Given the description of an element on the screen output the (x, y) to click on. 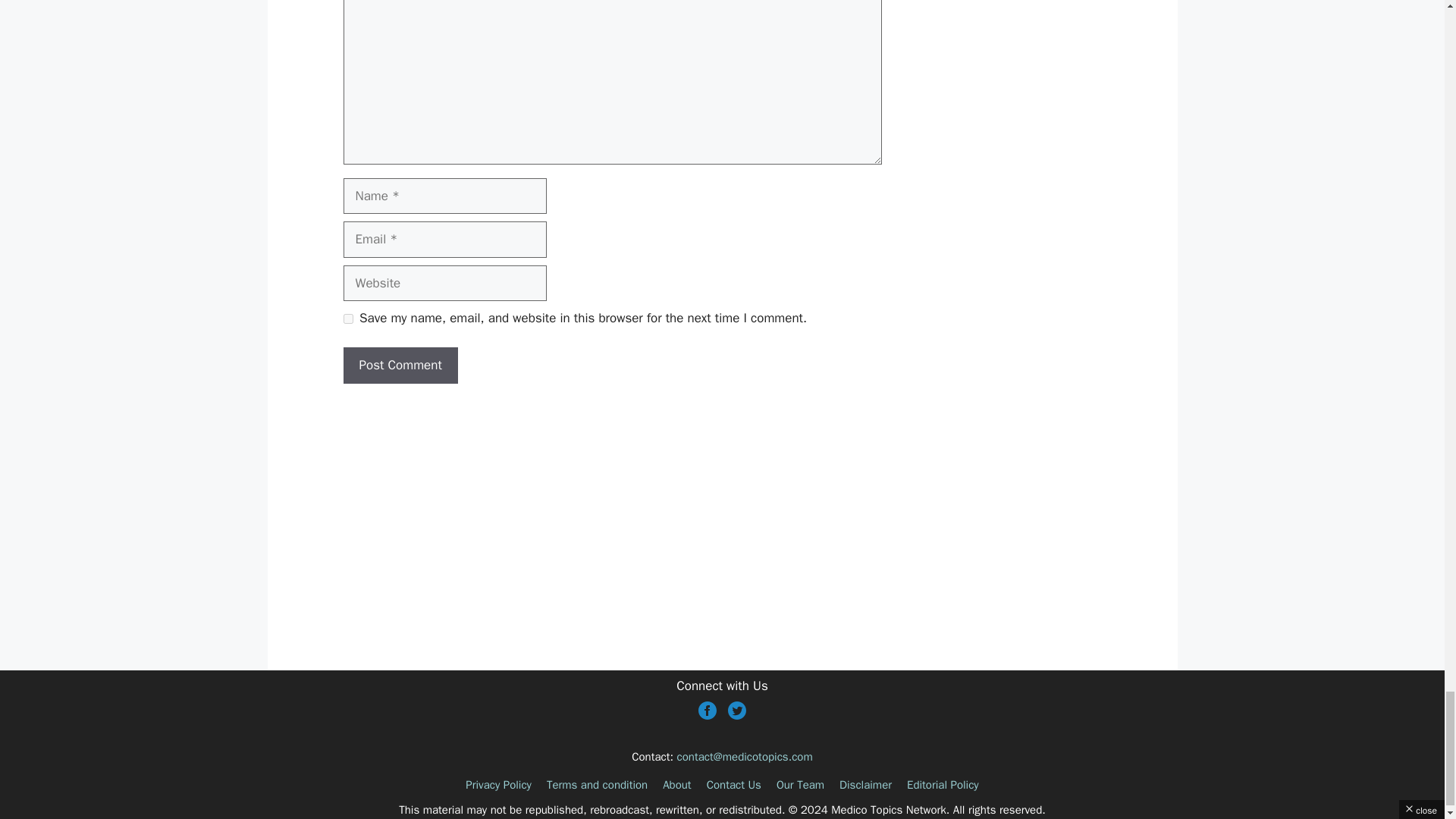
Post Comment (399, 365)
yes (347, 318)
